Given the description of an element on the screen output the (x, y) to click on. 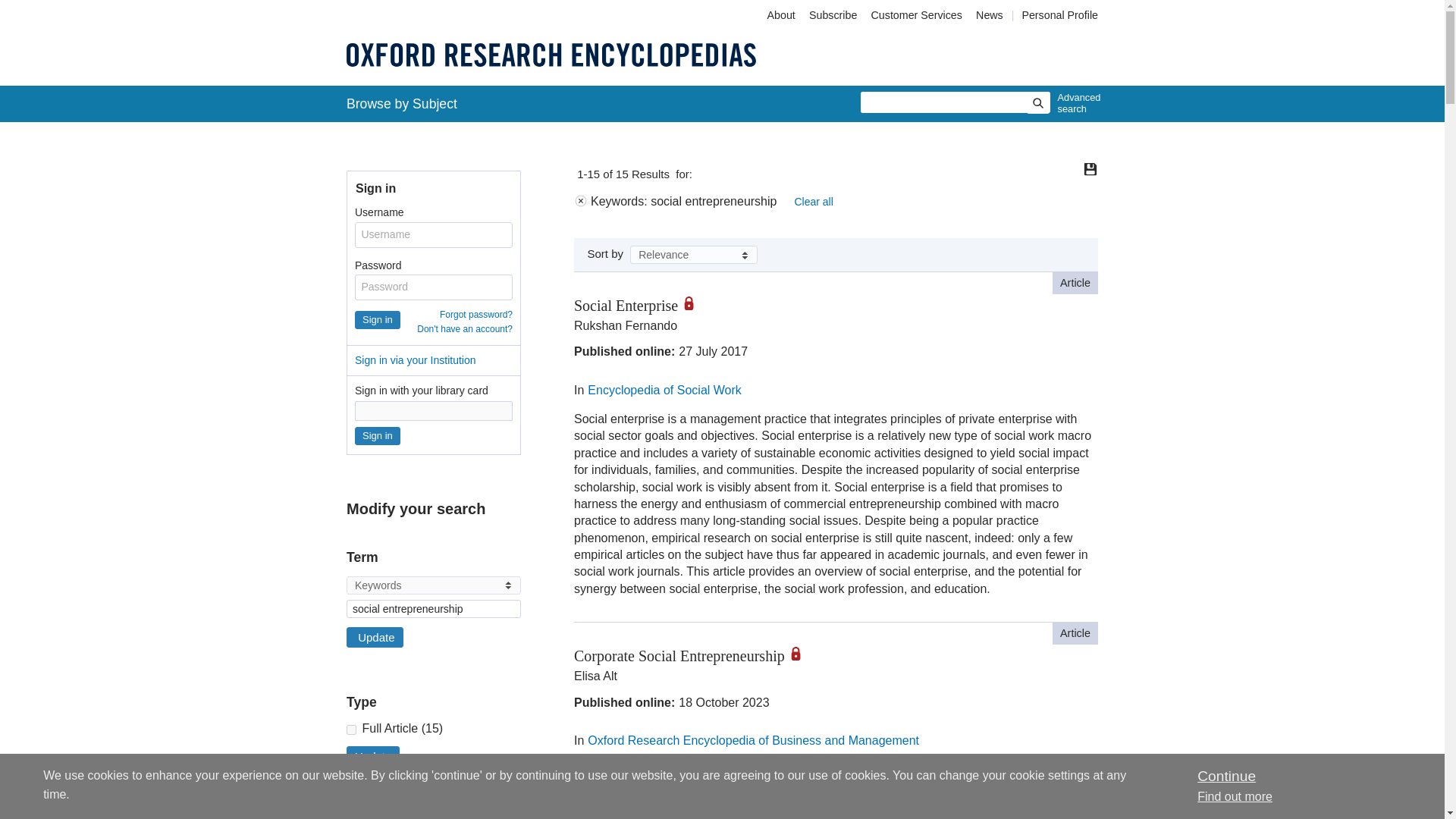
Oxford Research Encyclopedias (550, 54)
Advanced search (1075, 103)
restricted access (801, 653)
 Update (374, 637)
News (991, 15)
Continue (1225, 775)
How we use cookies on this site (1234, 796)
Search (1037, 102)
Browse by Subject (401, 103)
Forgot password? (475, 314)
Close this message (1225, 775)
Sign in (377, 434)
Personal Profile (1059, 15)
Save (1090, 168)
Subscribe (832, 15)
